Given the description of an element on the screen output the (x, y) to click on. 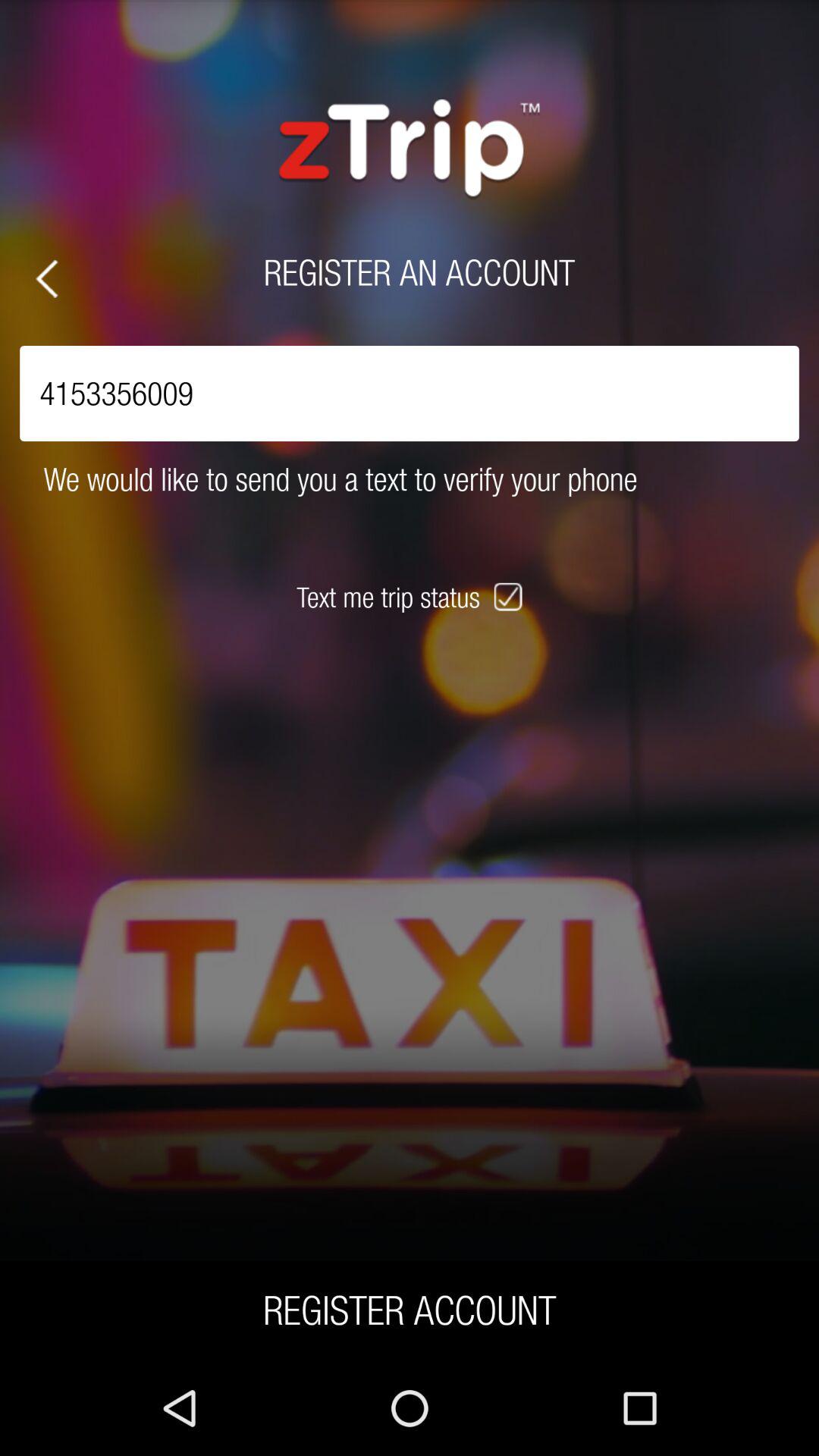
tap the item above we would like (409, 393)
